Given the description of an element on the screen output the (x, y) to click on. 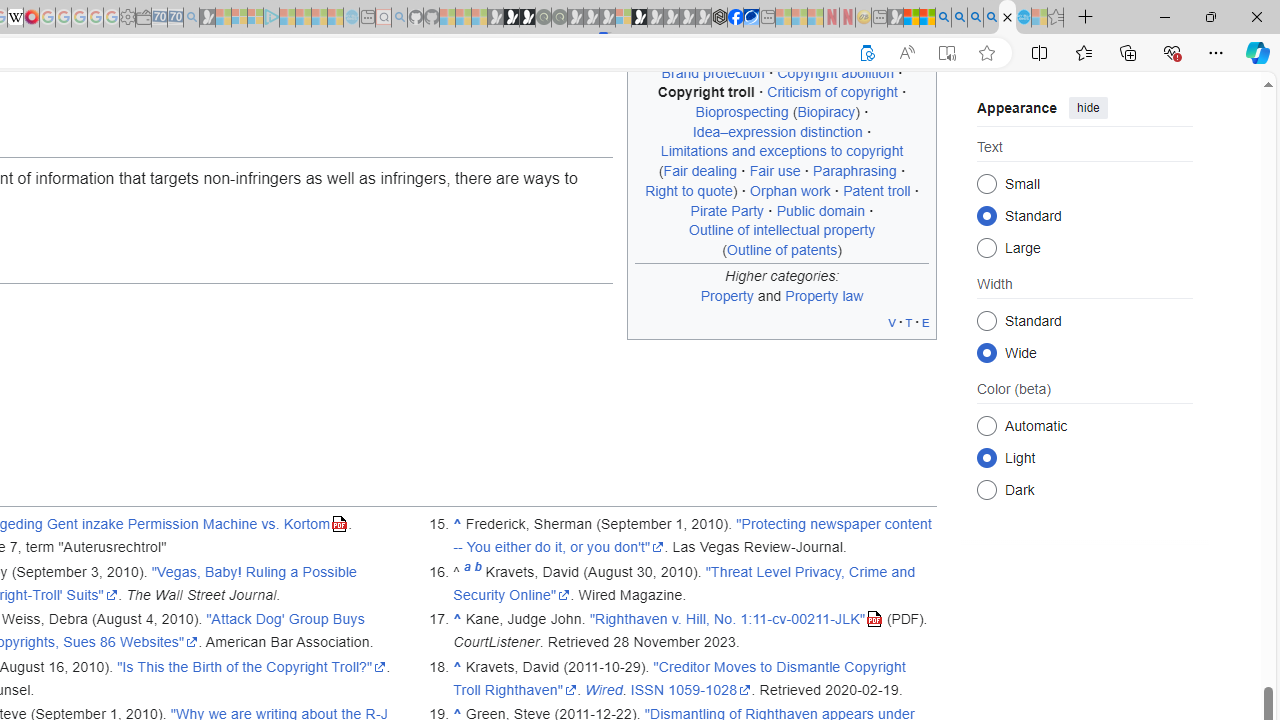
Patent troll (877, 190)
Wide (986, 352)
AirNow.gov (751, 17)
Play Zoo Boom in your browser | Games from Microsoft Start (511, 17)
Right to quote (689, 190)
"Righthaven v. Hill, No. 1:11-cv-00211-JLK" (736, 619)
Outline of intellectual property (Outline of patents) (781, 239)
Google Chrome Internet Browser Download - Search Images (991, 17)
Class: mw-list-item mw-list-item-js (1084, 457)
